Given the description of an element on the screen output the (x, y) to click on. 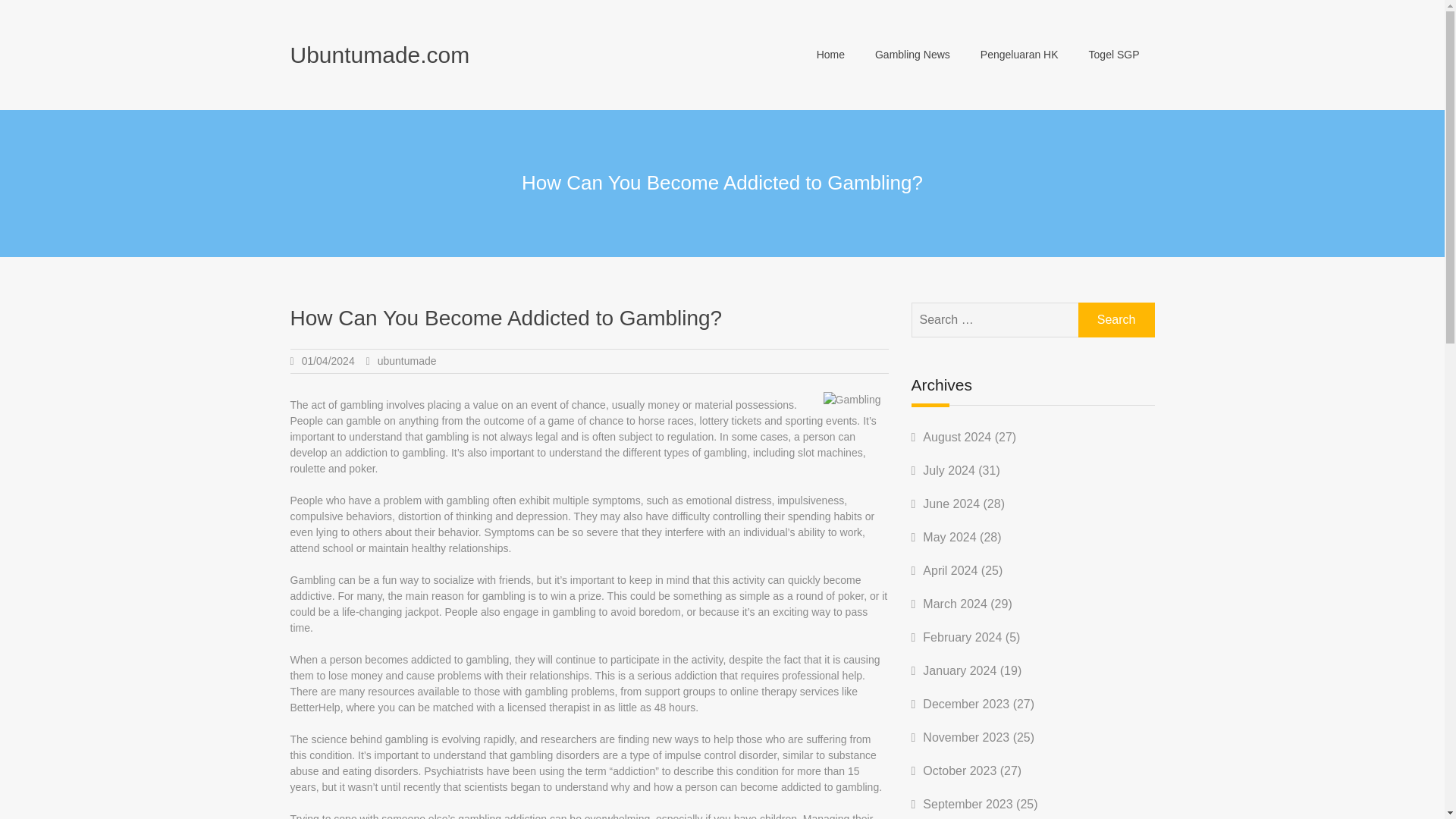
Gambling News (912, 55)
May 2024 (949, 536)
June 2024 (951, 503)
November 2023 (966, 737)
Search (1116, 319)
Search (1116, 319)
Search (1116, 319)
September 2023 (967, 803)
ubuntumade (406, 360)
Pengeluaran HK (1019, 55)
